Given the description of an element on the screen output the (x, y) to click on. 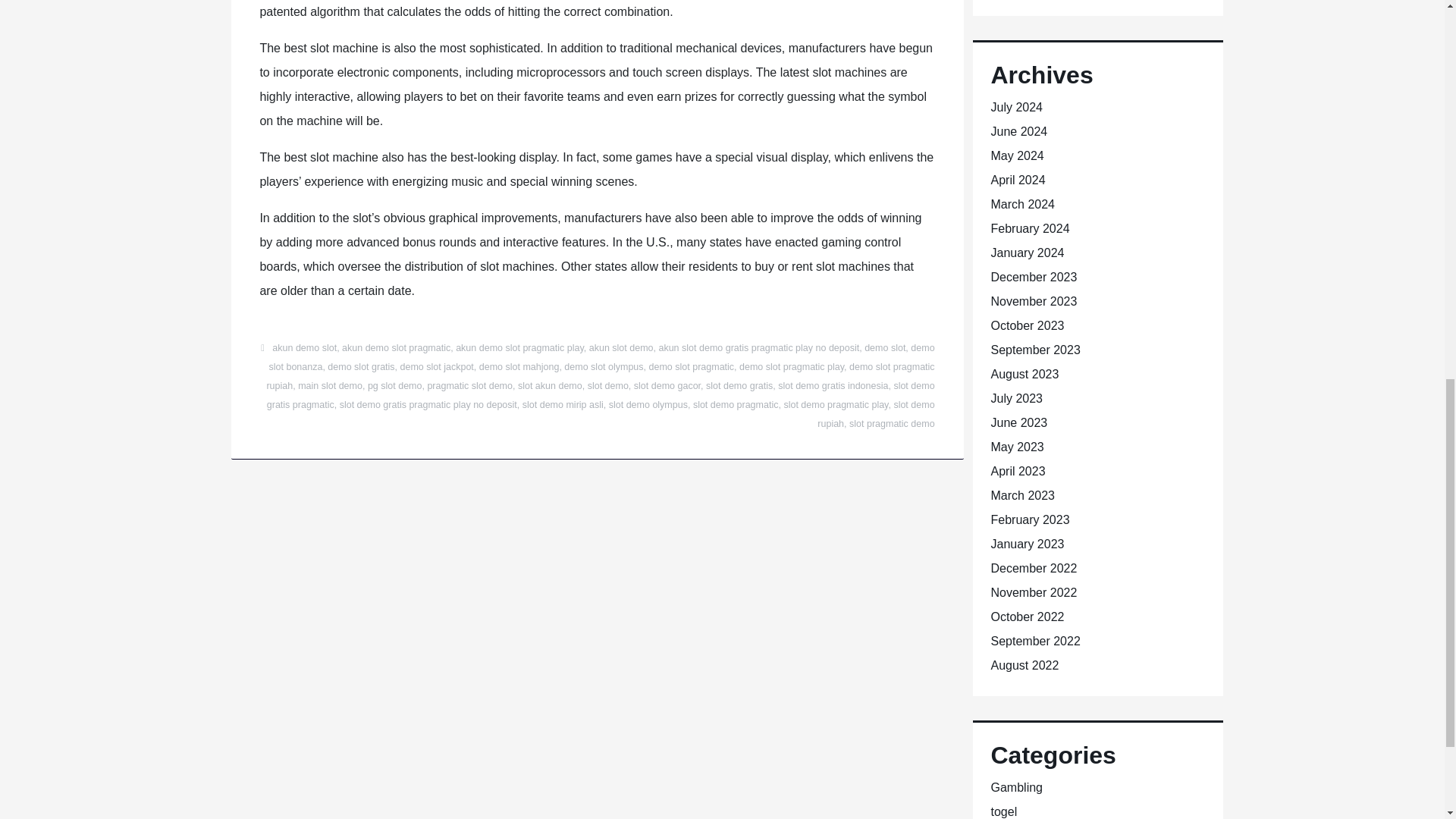
slot demo gratis pragmatic (600, 395)
demo slot mahjong (519, 366)
demo slot pragmatic play (791, 366)
akun demo slot pragmatic (395, 347)
slot demo rupiah (875, 414)
pragmatic slot demo (469, 385)
akun demo slot (304, 347)
slot demo (608, 385)
slot demo olympus (647, 404)
slot demo gratis (739, 385)
demo slot bonanza (601, 357)
demo slot (884, 347)
demo slot gratis (360, 366)
slot demo pragmatic play (835, 404)
akun demo slot pragmatic play (519, 347)
